Given the description of an element on the screen output the (x, y) to click on. 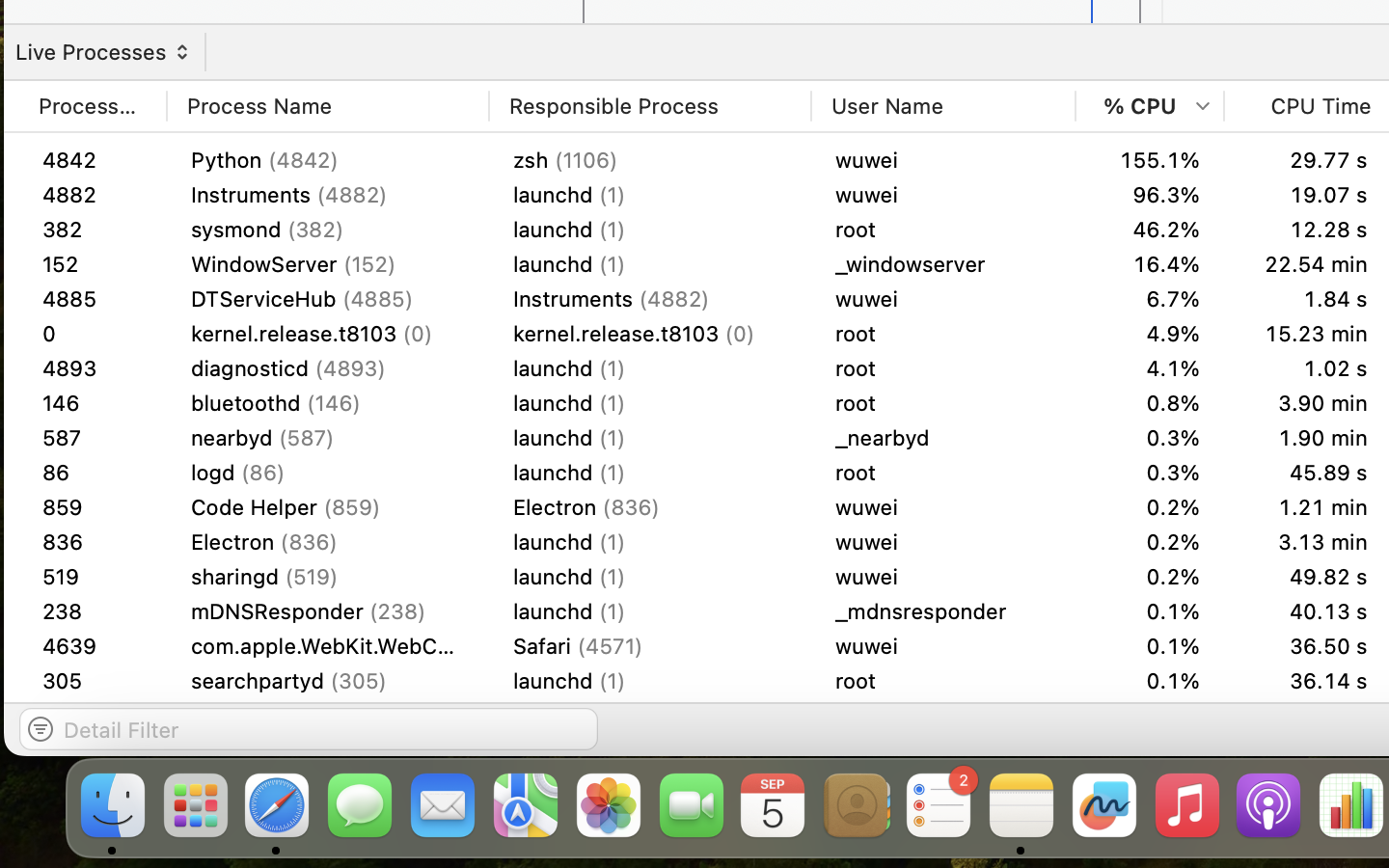
15.22 min Element type: AXStaticText (1307, 263)
305 Element type: AXStaticText (92, 680)
sharingd (519) Element type: AXStaticText (327, 541)
52.29 s Element type: AXStaticText (1307, 576)
14.31 s Element type: AXStaticText (1307, 194)
